Given the description of an element on the screen output the (x, y) to click on. 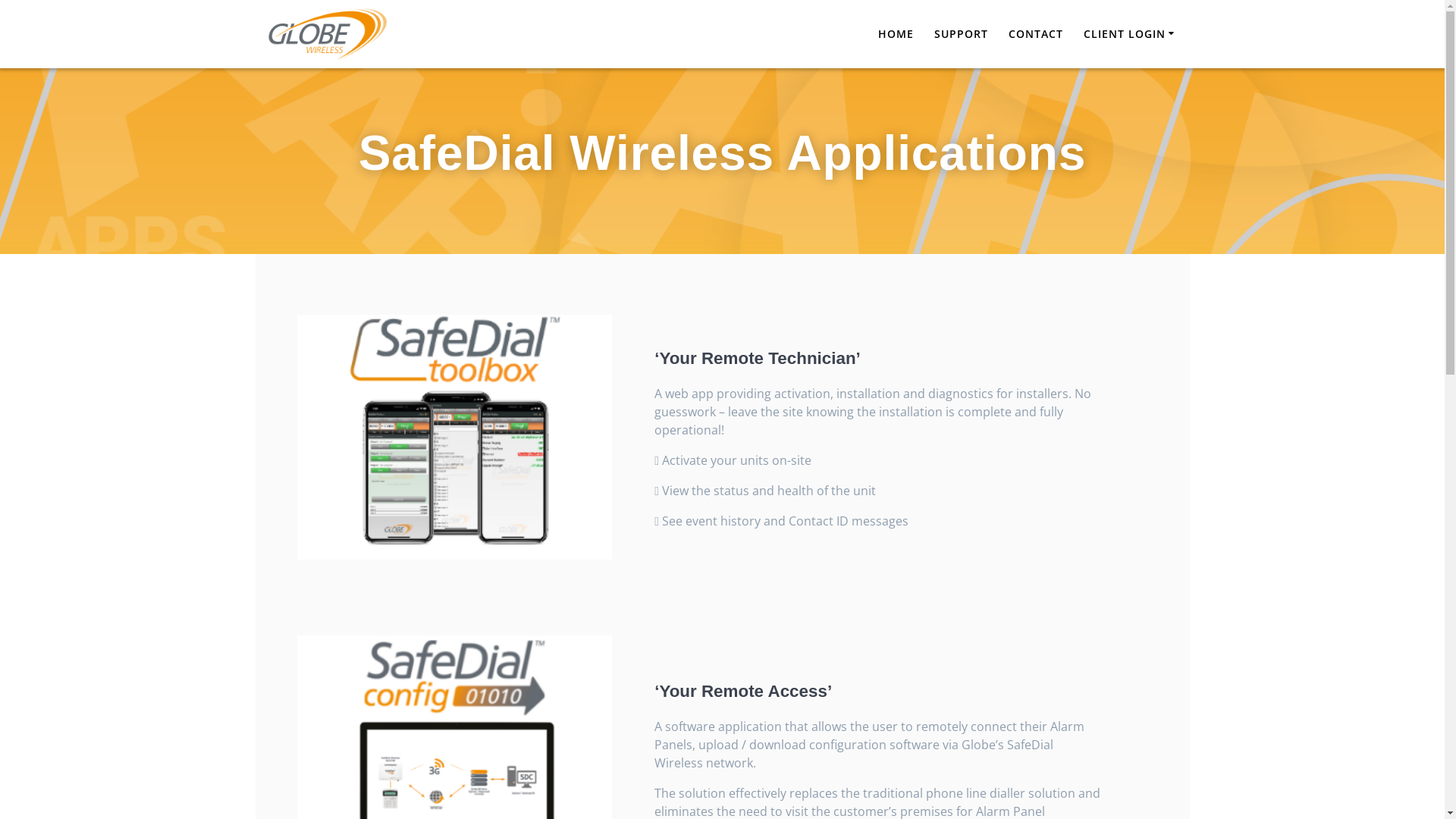
Skip to content Element type: text (0, 0)
SUPPORT Element type: text (961, 33)
HOME Element type: text (895, 33)
CLIENT LOGIN Element type: text (1131, 33)
CONTACT Element type: text (1035, 33)
